Given the description of an element on the screen output the (x, y) to click on. 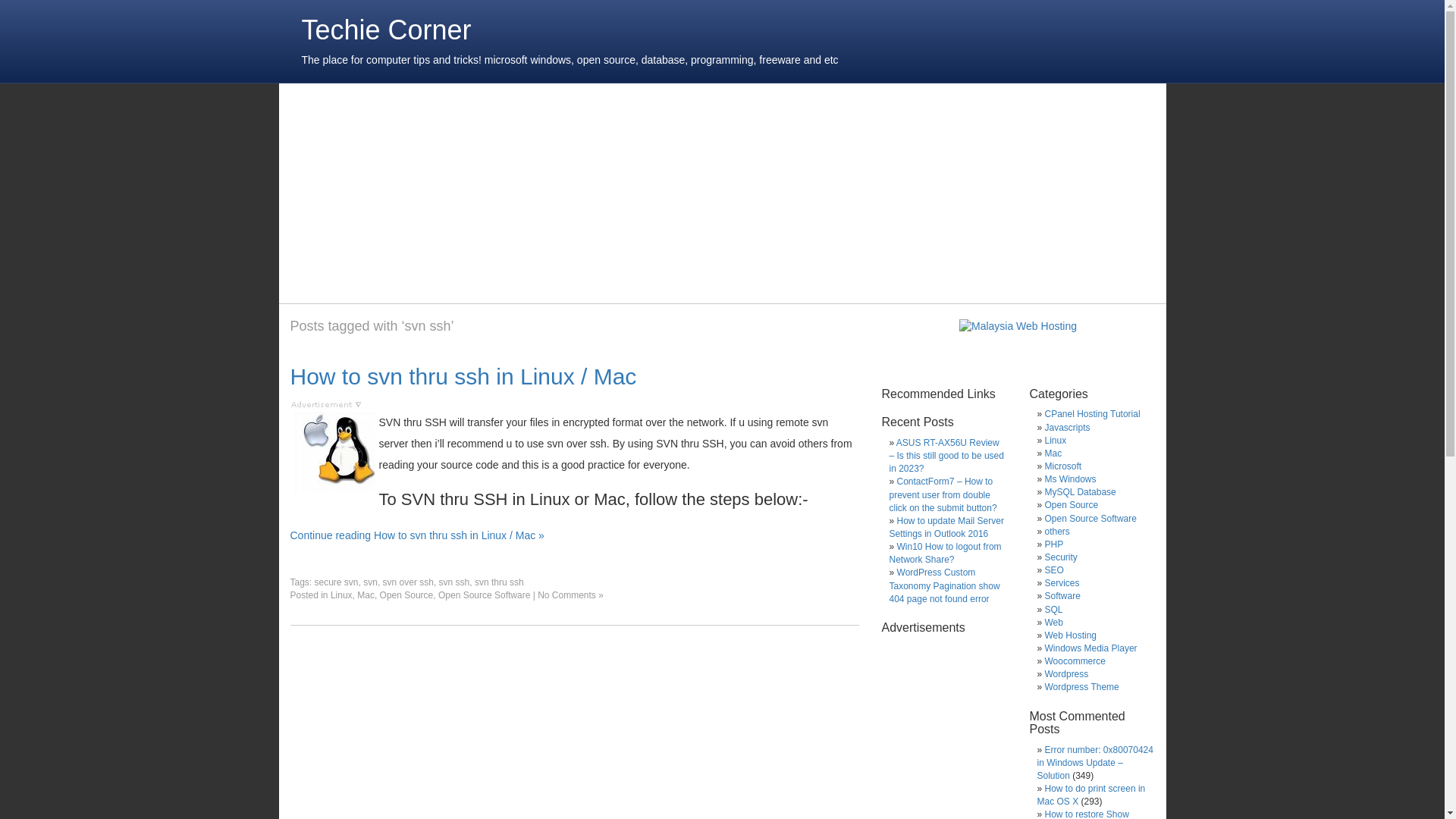
svn ssh (454, 582)
SEO (1054, 570)
mac, linux (334, 452)
MySQL Database (1080, 491)
CPanel Hosting Tutorial (1092, 413)
others (1057, 531)
svn (369, 582)
Security (1061, 557)
Open Source (1072, 504)
Services (1062, 583)
Mac (1053, 452)
secure svn (336, 582)
Open Source Software (483, 594)
Mac (365, 594)
Software (1062, 595)
